Given the description of an element on the screen output the (x, y) to click on. 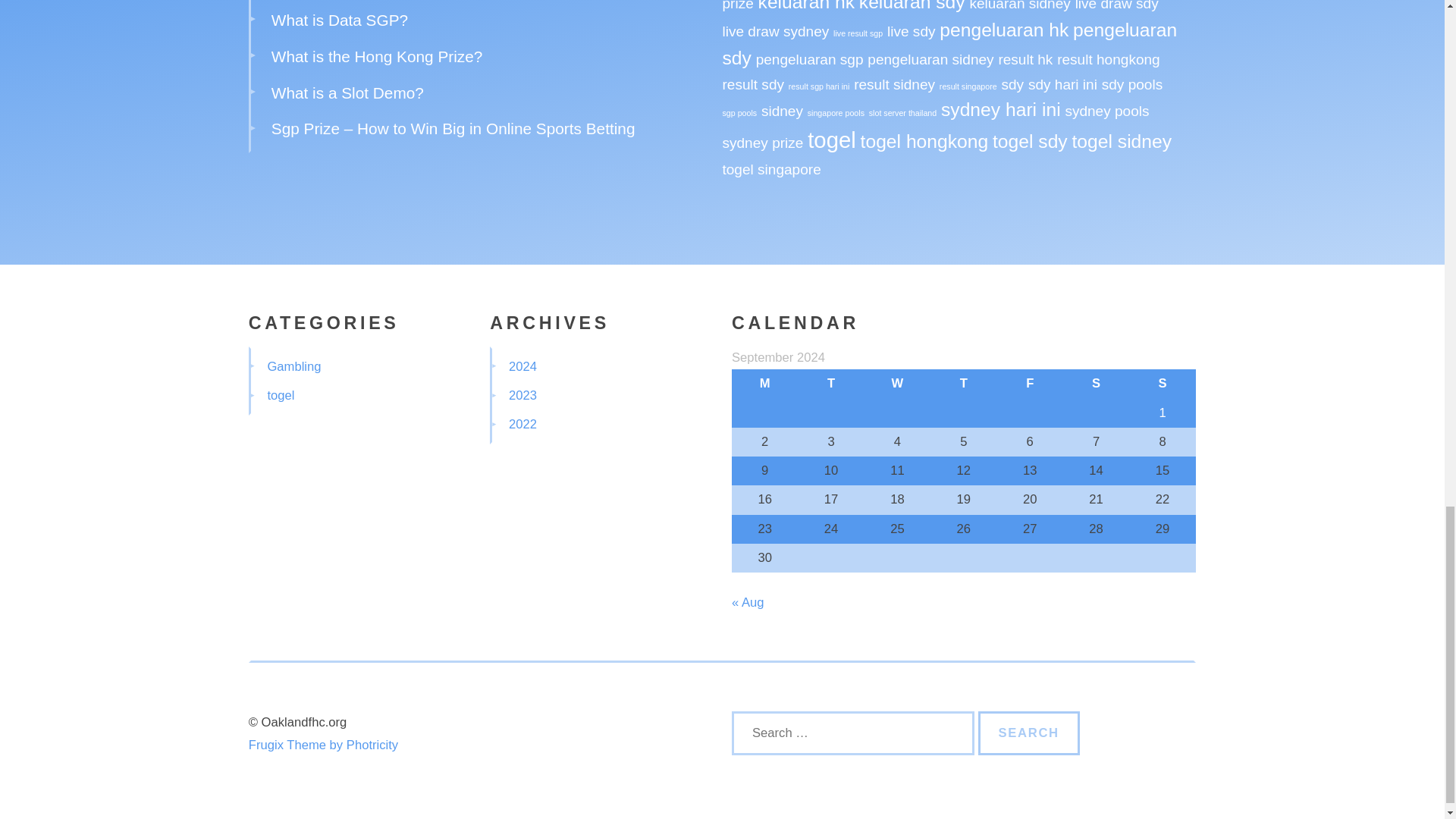
What is a Slot Demo? (346, 92)
keluaran hk (806, 6)
result singapore (968, 85)
What is Data SGP? (338, 19)
Search (1029, 733)
live draw sdy (1116, 5)
Friday (1029, 383)
Search (1029, 733)
keluaran sidney (1019, 5)
Monday (764, 383)
